Given the description of an element on the screen output the (x, y) to click on. 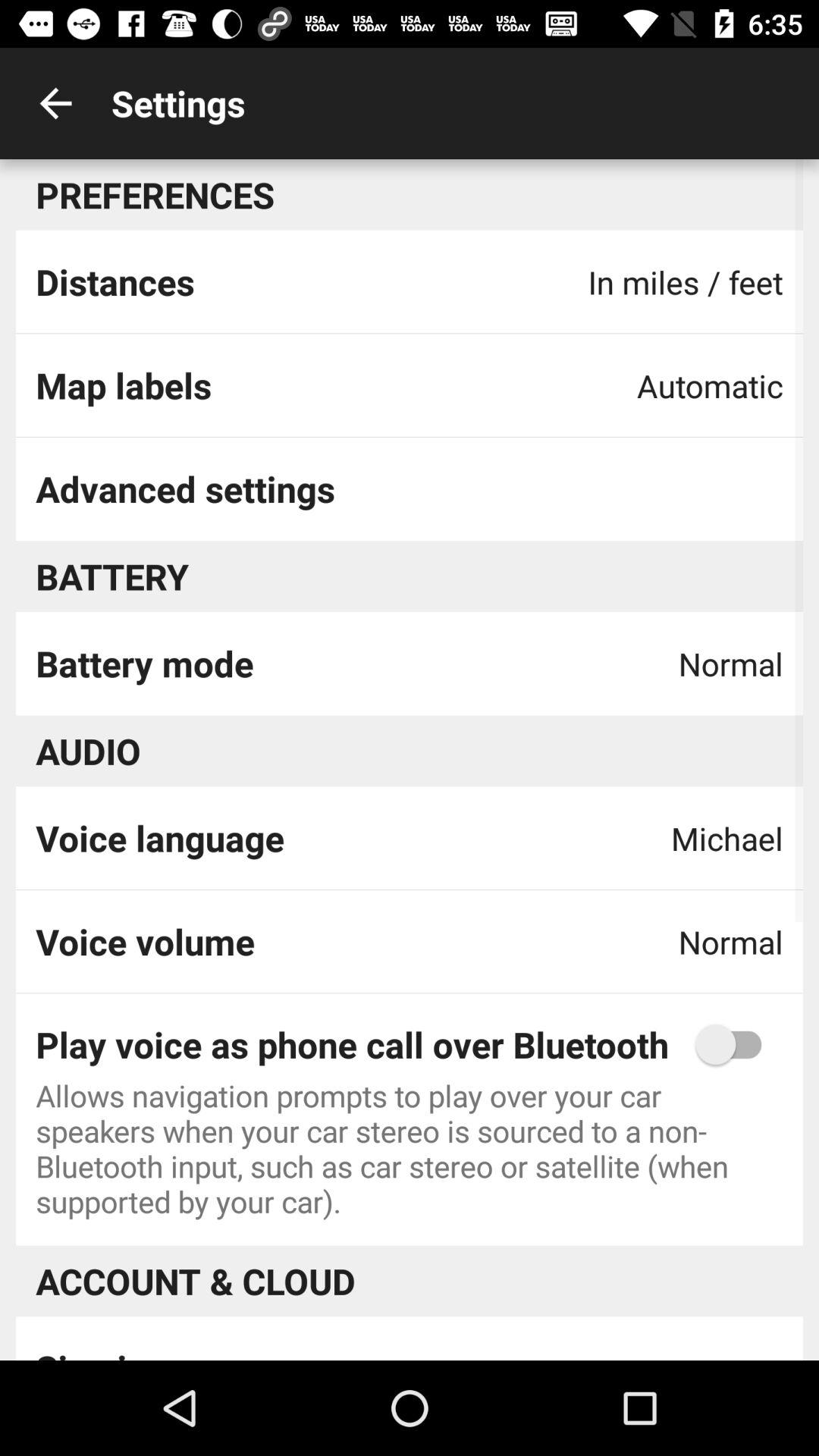
turn off the item above distances icon (55, 103)
